Given the description of an element on the screen output the (x, y) to click on. 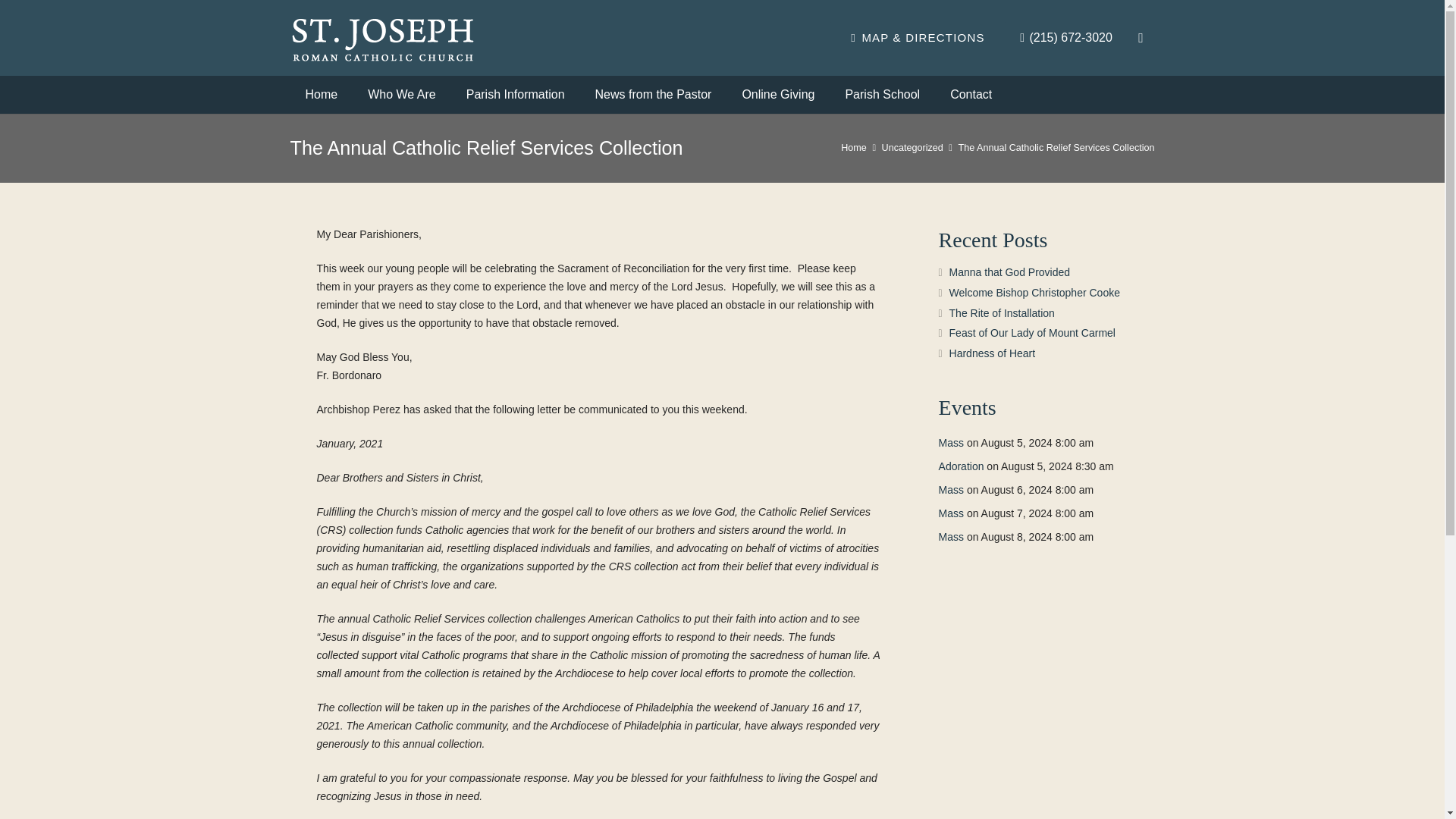
Facebook (1140, 37)
The Annual Catholic Relief Services Collection (1056, 147)
Hardness of Heart (992, 353)
Home (320, 94)
Mass (951, 512)
Parish School (881, 94)
Contact (970, 94)
Home (853, 147)
Adoration (961, 466)
Online Giving (777, 94)
Uncategorized (912, 147)
Mass (951, 442)
Feast of Our Lady of Mount Carmel (1032, 332)
Mass (951, 536)
The Rite of Installation (1001, 313)
